Given the description of an element on the screen output the (x, y) to click on. 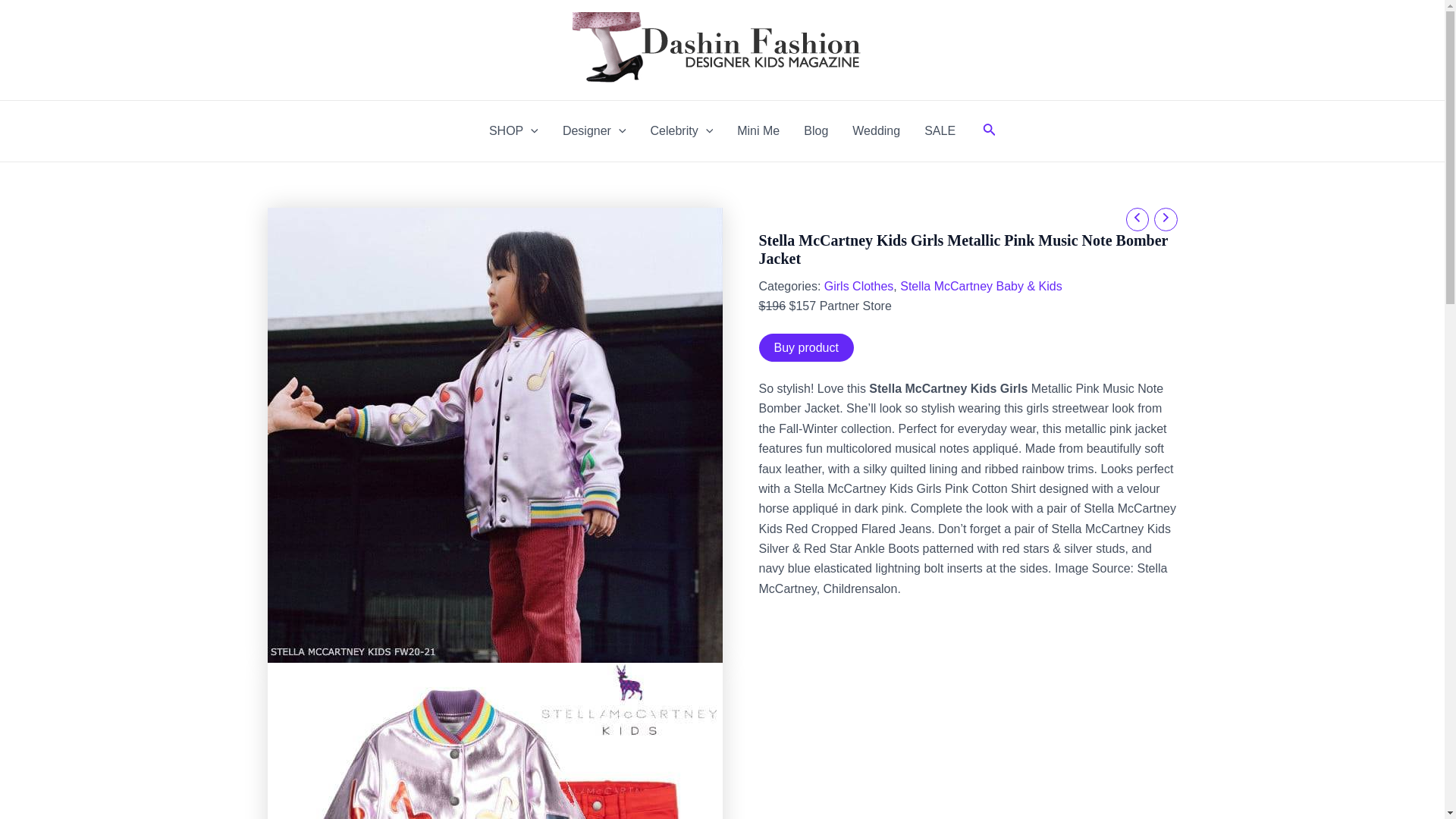
SHOP (513, 130)
Designer (594, 130)
Celebrity (682, 130)
